Given the description of an element on the screen output the (x, y) to click on. 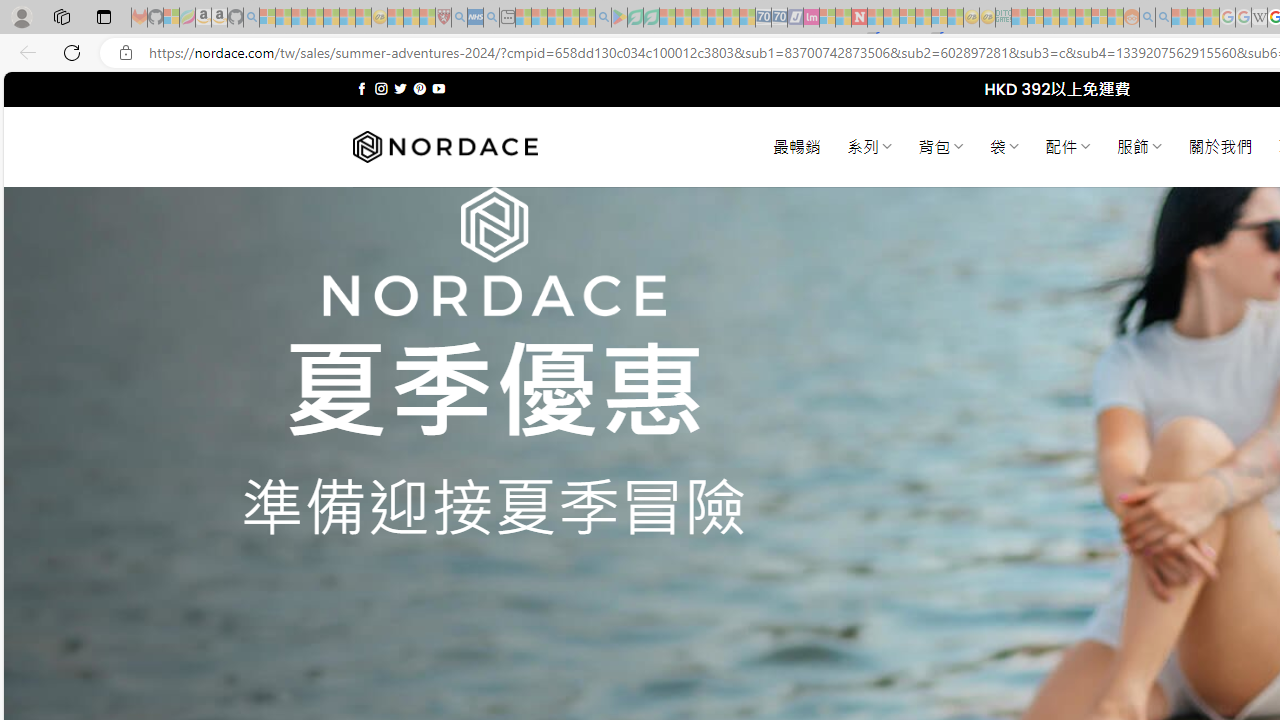
Follow on Pinterest (419, 88)
Jobs - lastminute.com Investor Portal - Sleeping (811, 17)
Local - MSN - Sleeping (427, 17)
